Given the description of an element on the screen output the (x, y) to click on. 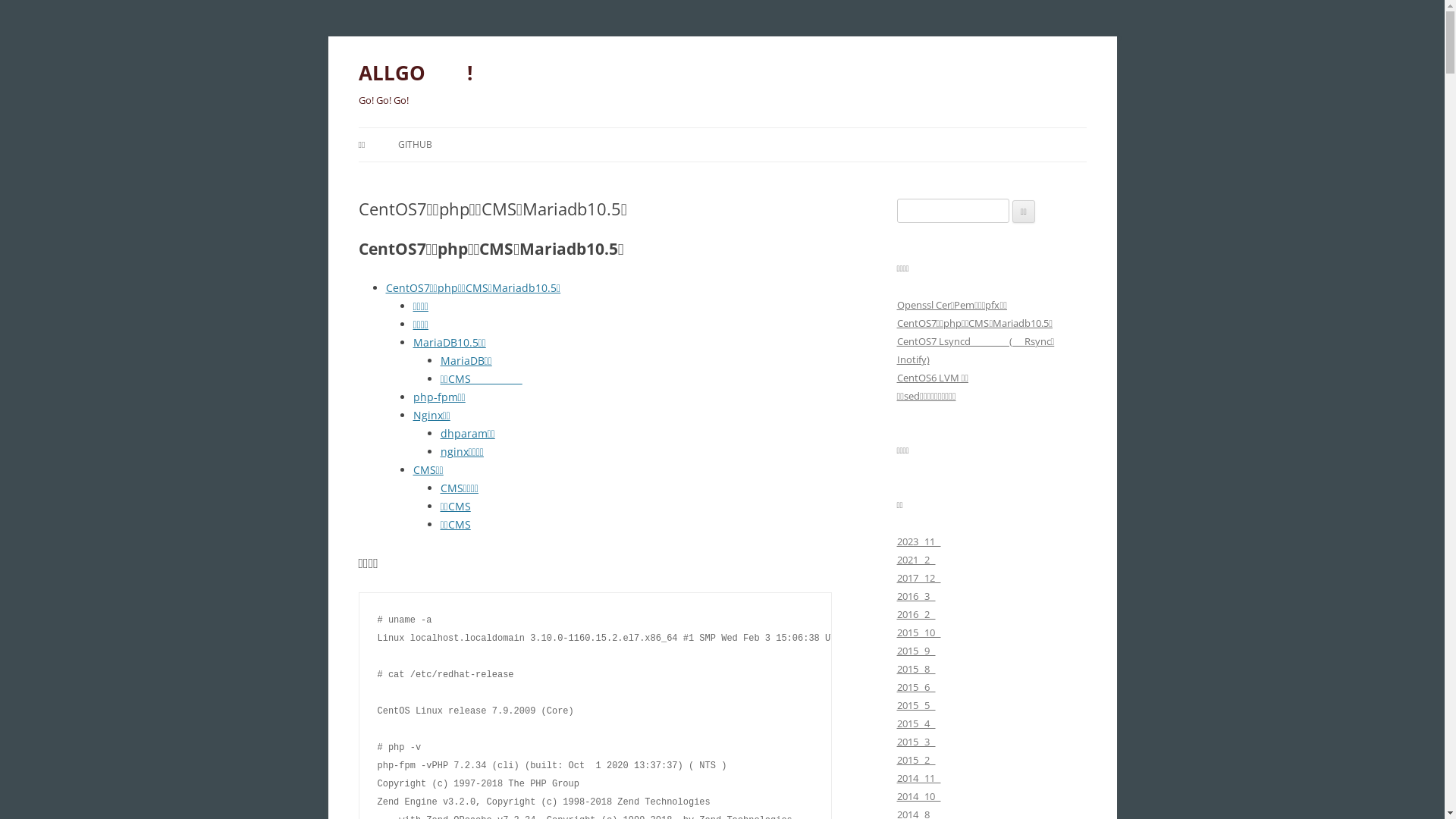
GITHUB Element type: text (415, 144)
